Given the description of an element on the screen output the (x, y) to click on. 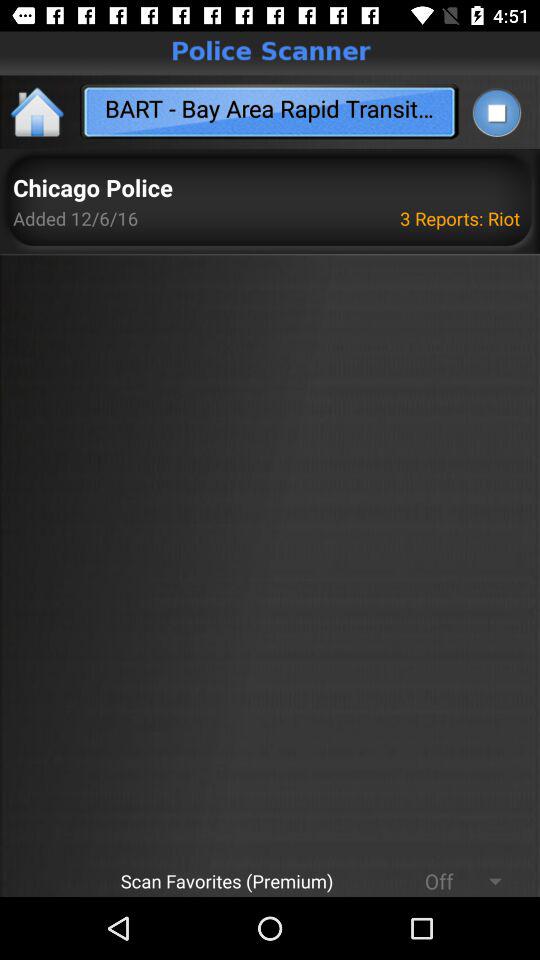
home icon (38, 111)
